Given the description of an element on the screen output the (x, y) to click on. 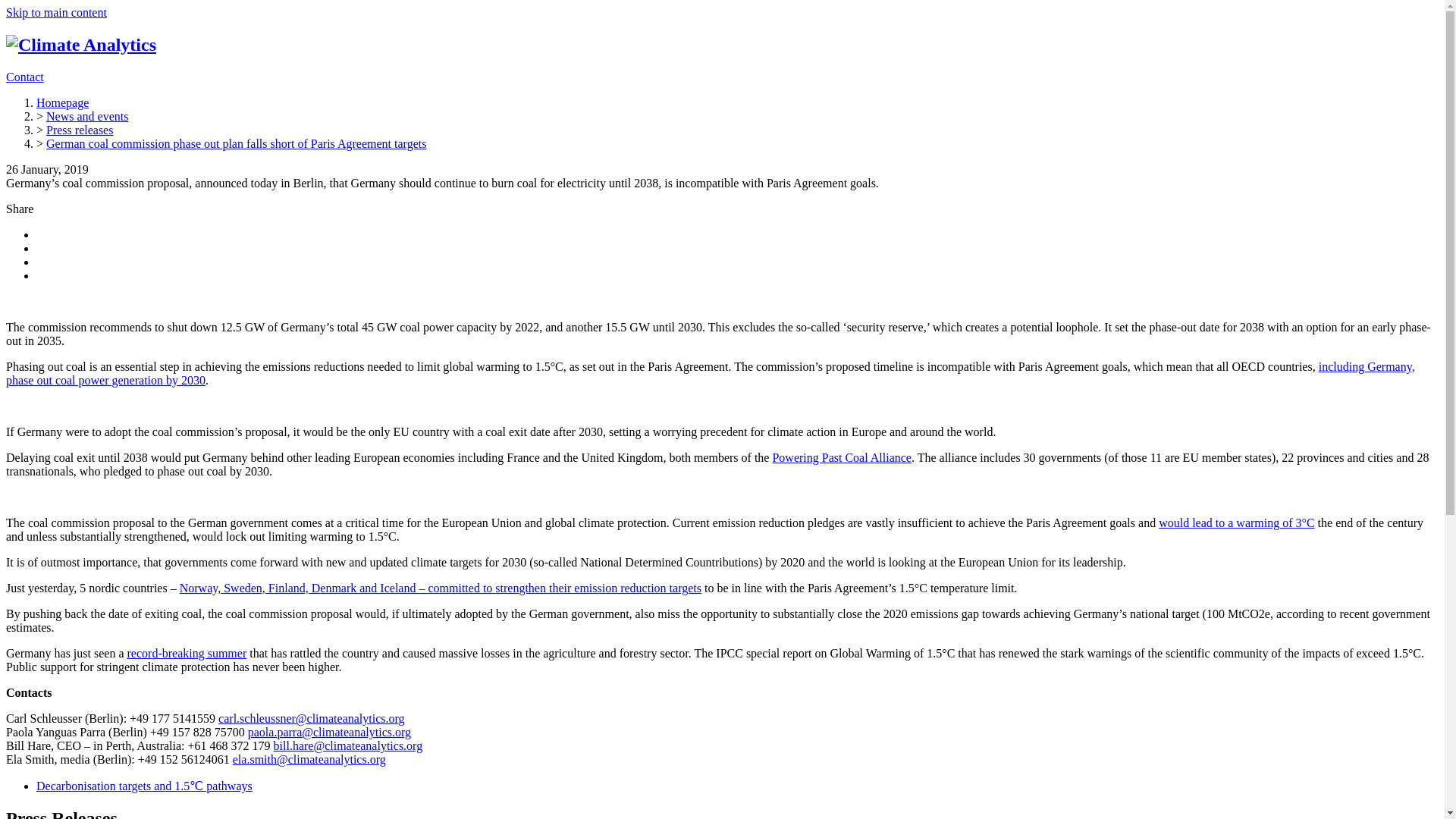
Skip to main content (55, 11)
Contact (24, 76)
Return to homepage (80, 44)
PPCA (841, 457)
